Given the description of an element on the screen output the (x, y) to click on. 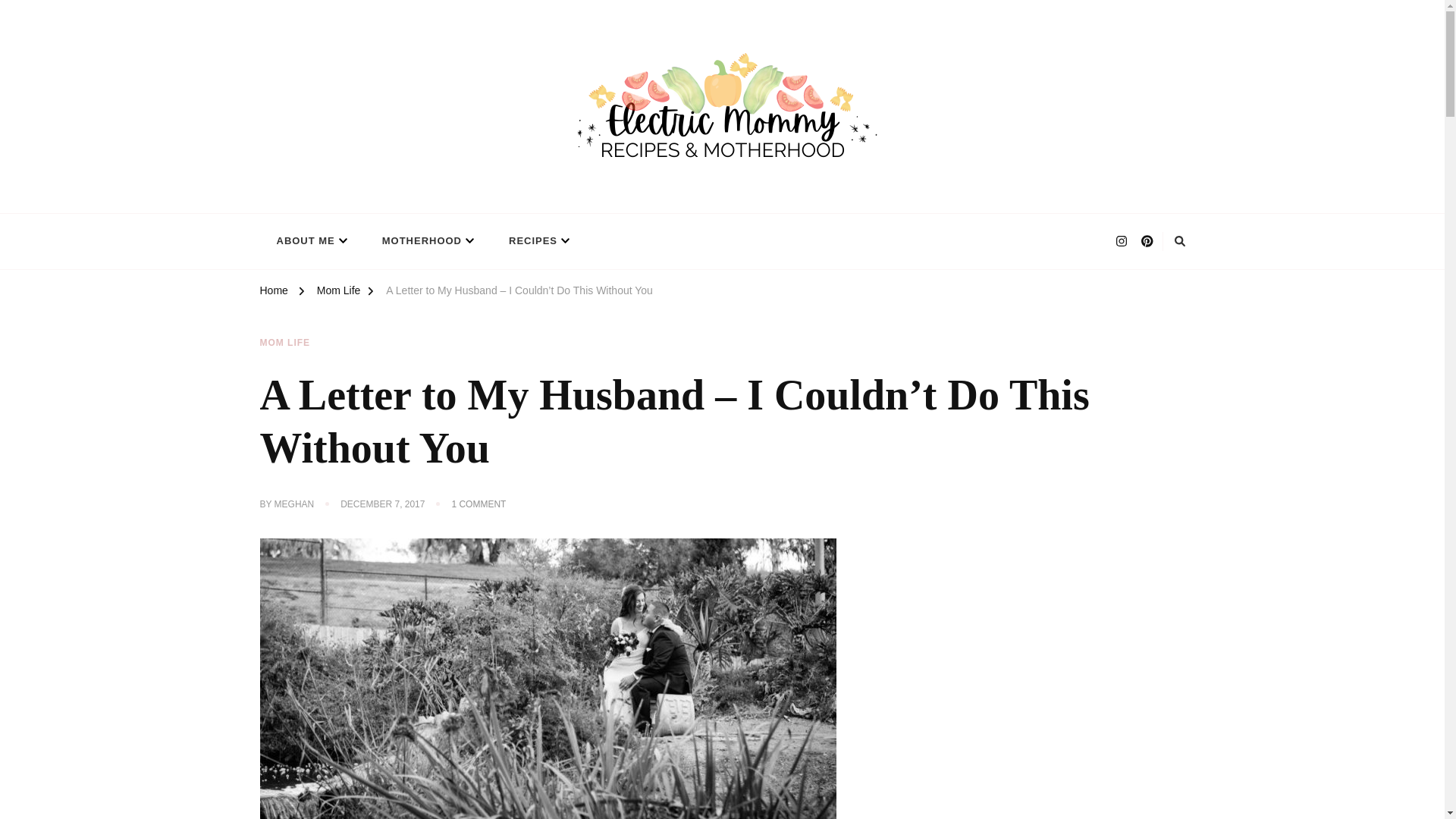
ABOUT ME (310, 241)
DECEMBER 7, 2017 (382, 504)
Home (272, 292)
MOM LIFE (284, 343)
Electric Mommy (341, 204)
RECIPES (537, 241)
MEGHAN (294, 504)
MOTHERHOOD (426, 241)
Mom Life (339, 292)
